Given the description of an element on the screen output the (x, y) to click on. 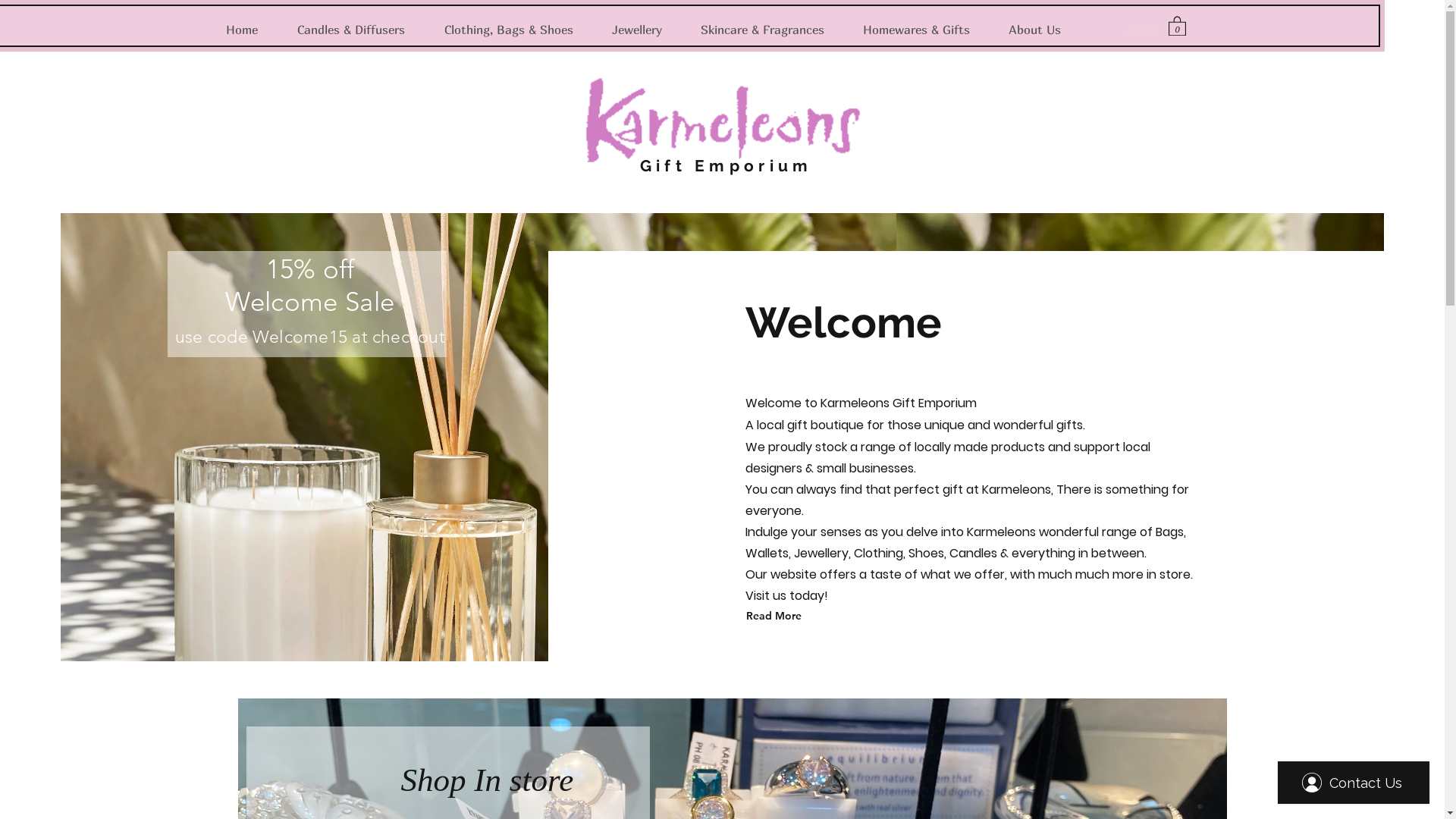
0 Element type: text (1176, 25)
Homewares & Gifts Element type: text (923, 29)
Clothing, Bags & Shoes Element type: text (515, 29)
Candles & Diffusers Element type: text (358, 29)
Home Element type: text (249, 29)
Log In Element type: text (1126, 29)
About Us Element type: text (1041, 29)
Read More Element type: text (813, 615)
Jewellery Element type: text (644, 29)
 Gift Emporium Element type: text (721, 165)
Skincare & Fragrances Element type: text (769, 29)
